Given the description of an element on the screen output the (x, y) to click on. 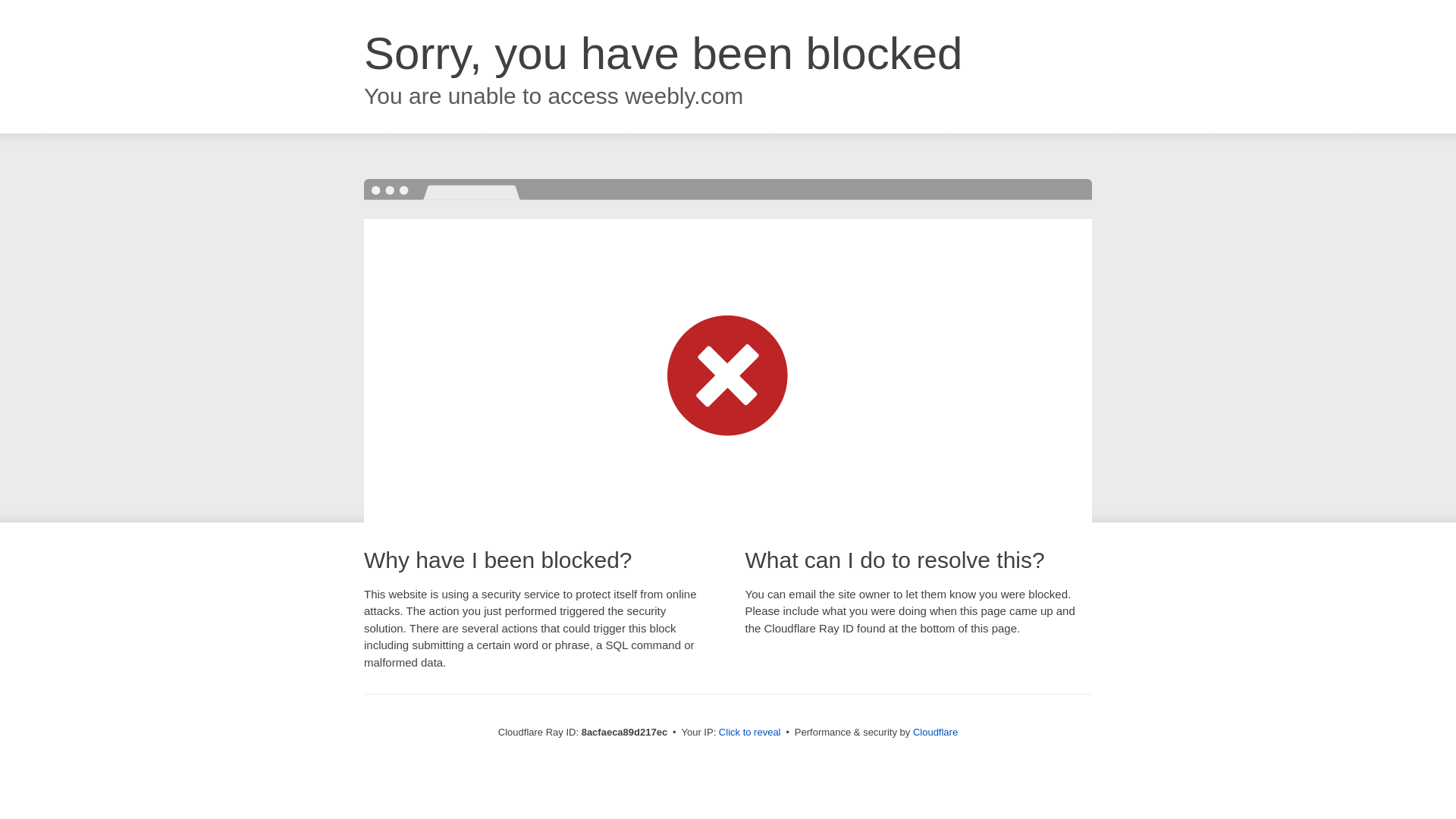
Click to reveal (749, 732)
Cloudflare (935, 731)
